Given the description of an element on the screen output the (x, y) to click on. 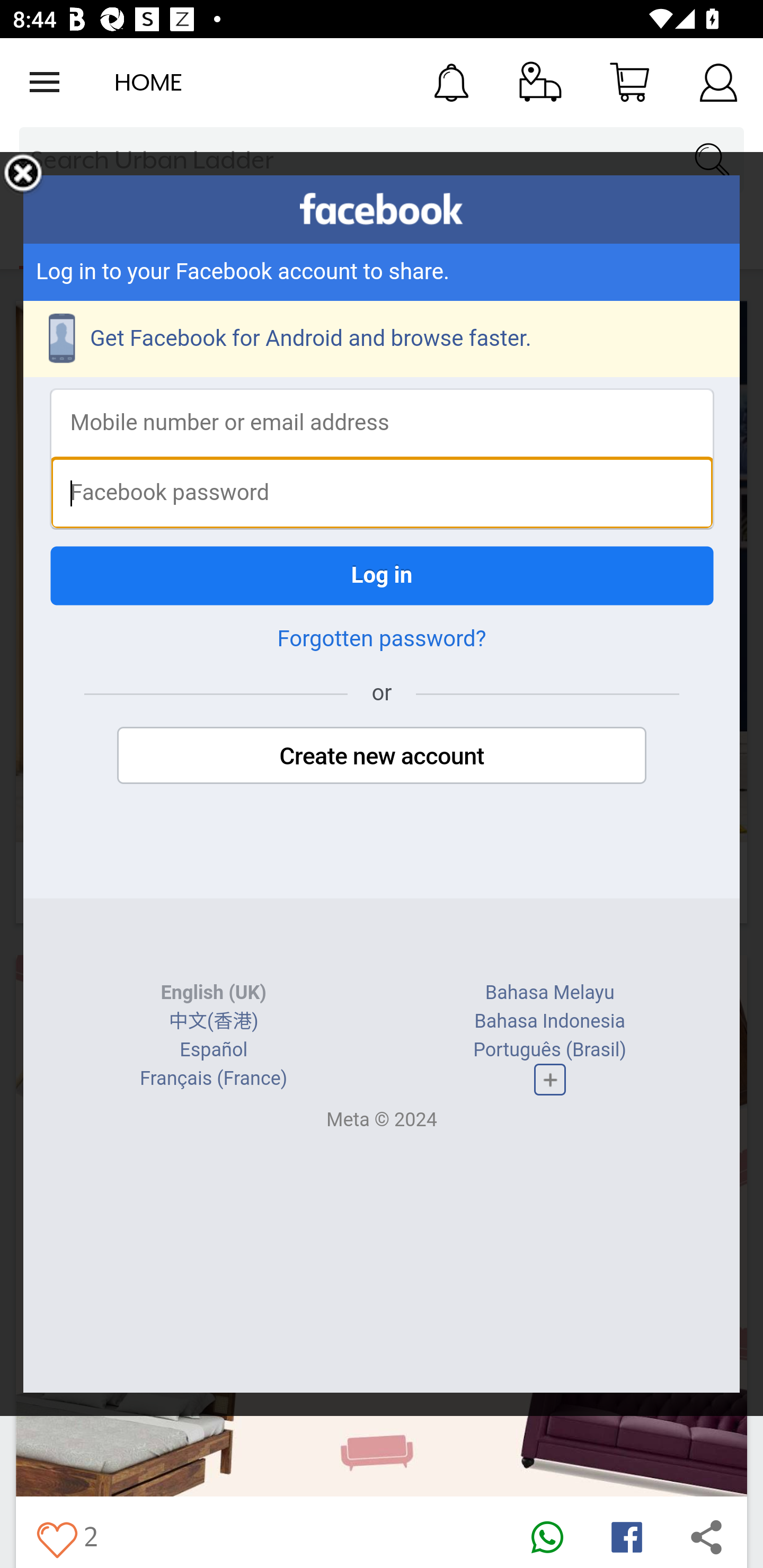
facebook (381, 208)
Get Facebook for Android and browse faster. (381, 339)
Log in (381, 575)
Forgotten password? (381, 638)
Create new account (381, 755)
Bahasa Melayu (549, 993)
中文(香港) (212, 1021)
Bahasa Indonesia (549, 1021)
Español (213, 1049)
Português (Brasil) (550, 1049)
Complete list of languages (548, 1079)
Français (France) (213, 1078)
